Given the description of an element on the screen output the (x, y) to click on. 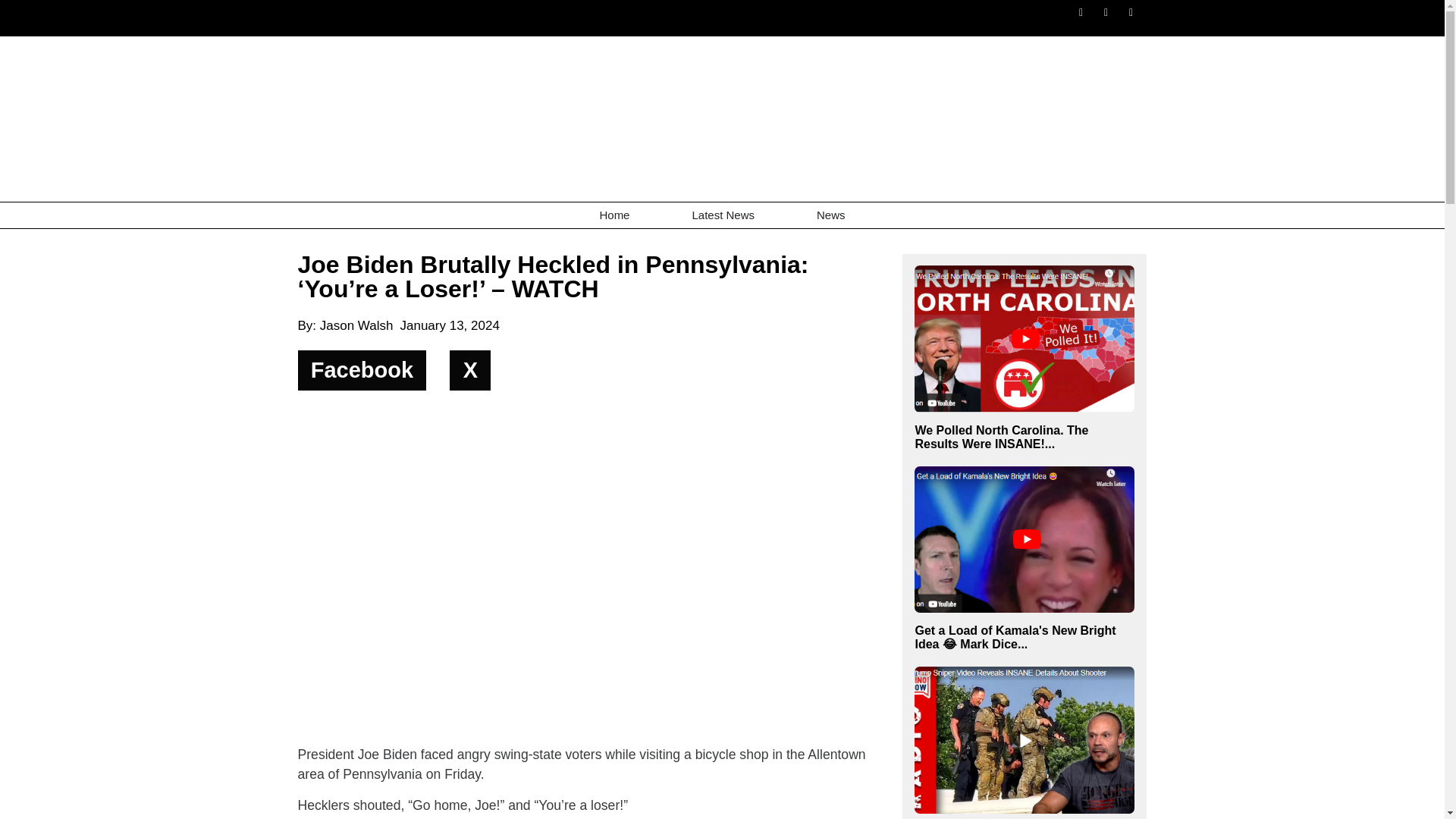
Home (614, 215)
News (831, 215)
By: Jason Walsh (345, 325)
January 13, 2024 (448, 325)
Latest News (723, 215)
We Polled North Carolina. The Results Were INSANE!... (1024, 437)
